Given the description of an element on the screen output the (x, y) to click on. 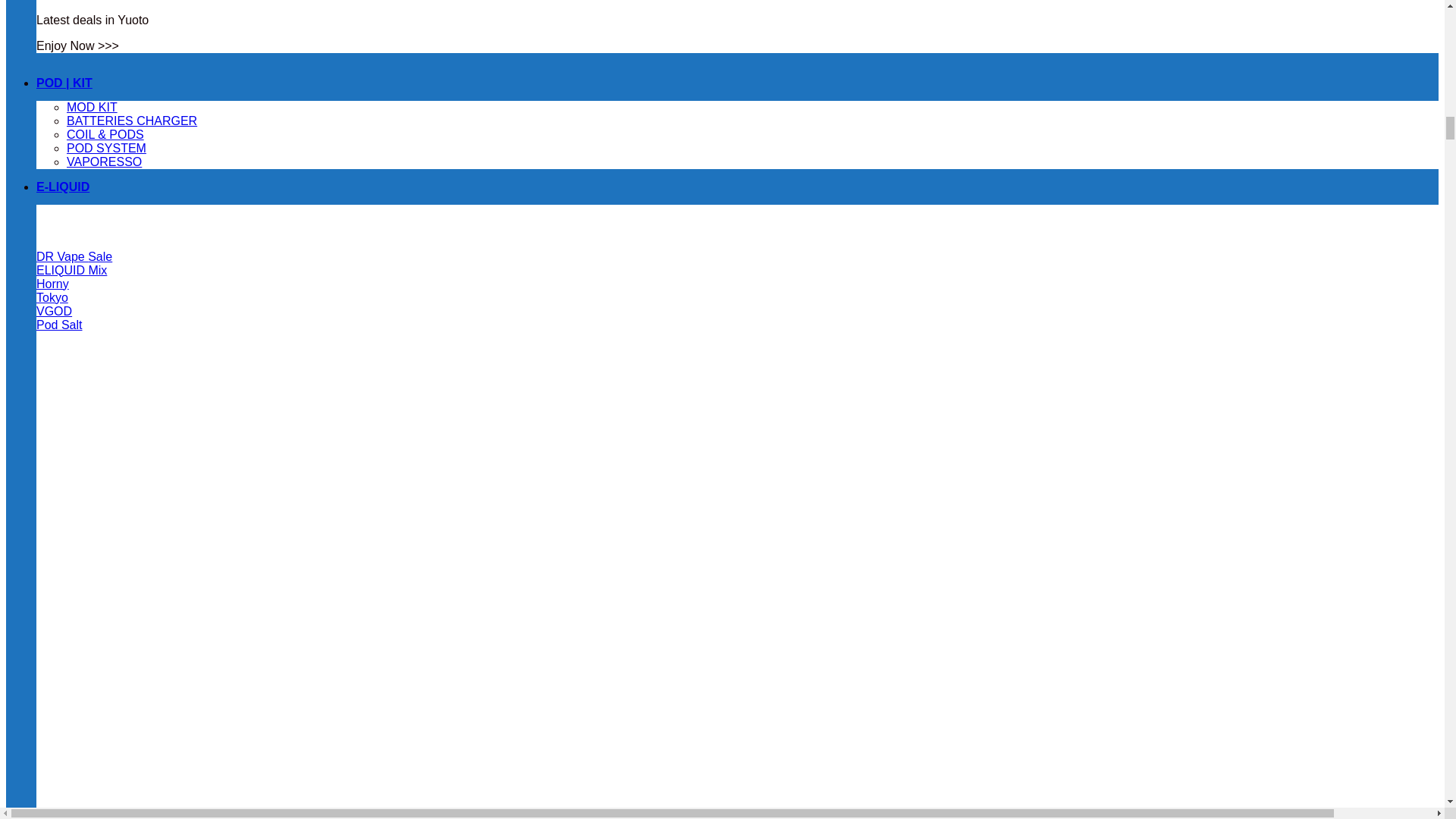
MOD KIT (91, 106)
Pod Salt (58, 324)
ELIQUID Mix (71, 269)
Tokyo (52, 297)
DR Vape (74, 256)
Horny (52, 283)
VAPORESSO (103, 160)
POD SYSTEM (106, 146)
E-LIQUID (62, 186)
BATTERIES CHARGER (131, 119)
VGOD (53, 310)
